Given the description of an element on the screen output the (x, y) to click on. 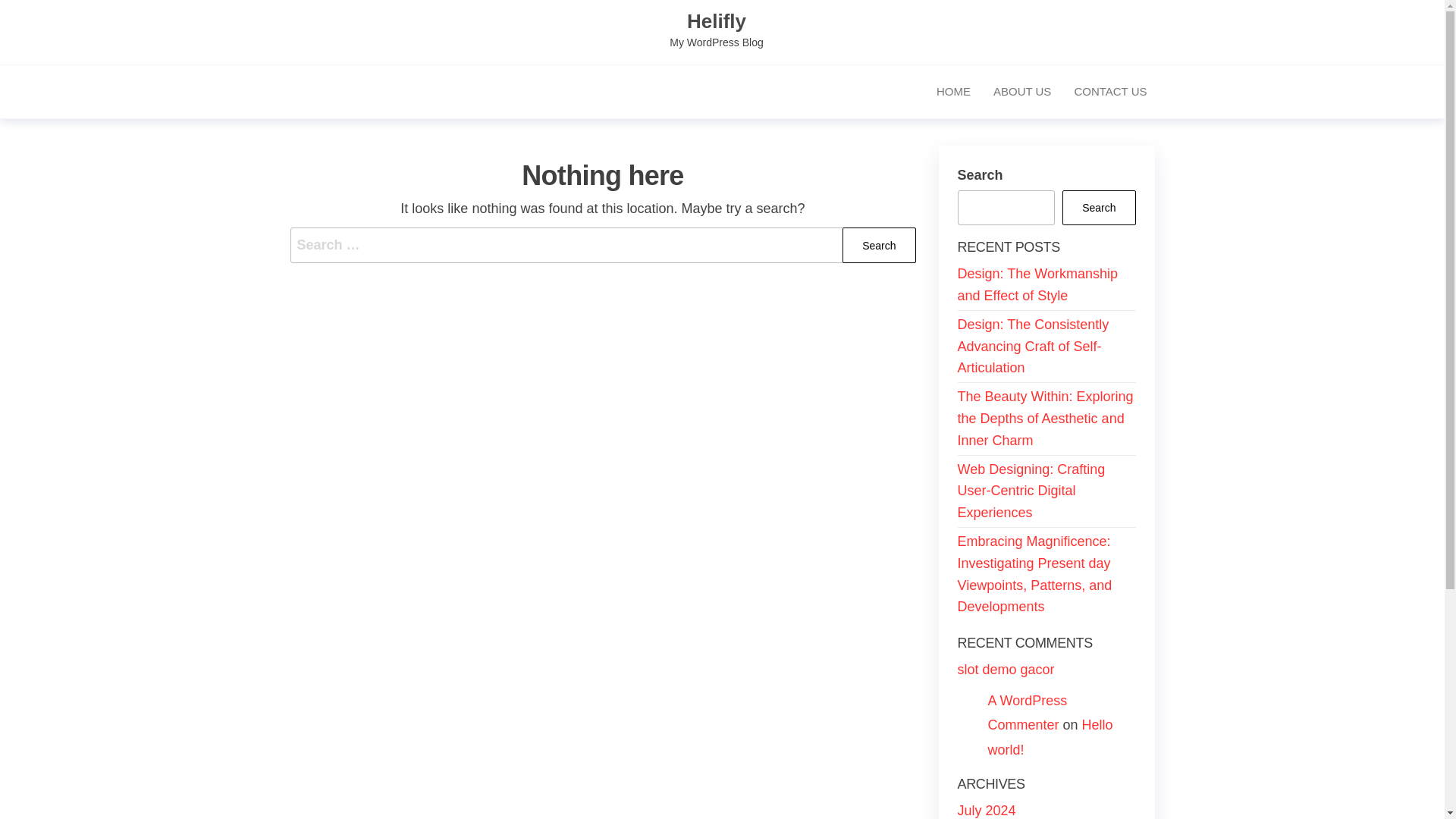
Web Designing: Crafting User-Centric Digital Experiences (1030, 490)
Search (879, 244)
CONTACT US (1109, 91)
Helifly (716, 20)
Home (952, 91)
Hello world! (1049, 736)
ABOUT US (1021, 91)
Search (879, 244)
slot demo gacor (1005, 669)
July 2024 (985, 810)
A WordPress Commenter (1027, 712)
Contact us (1109, 91)
Search (1098, 208)
